Given the description of an element on the screen output the (x, y) to click on. 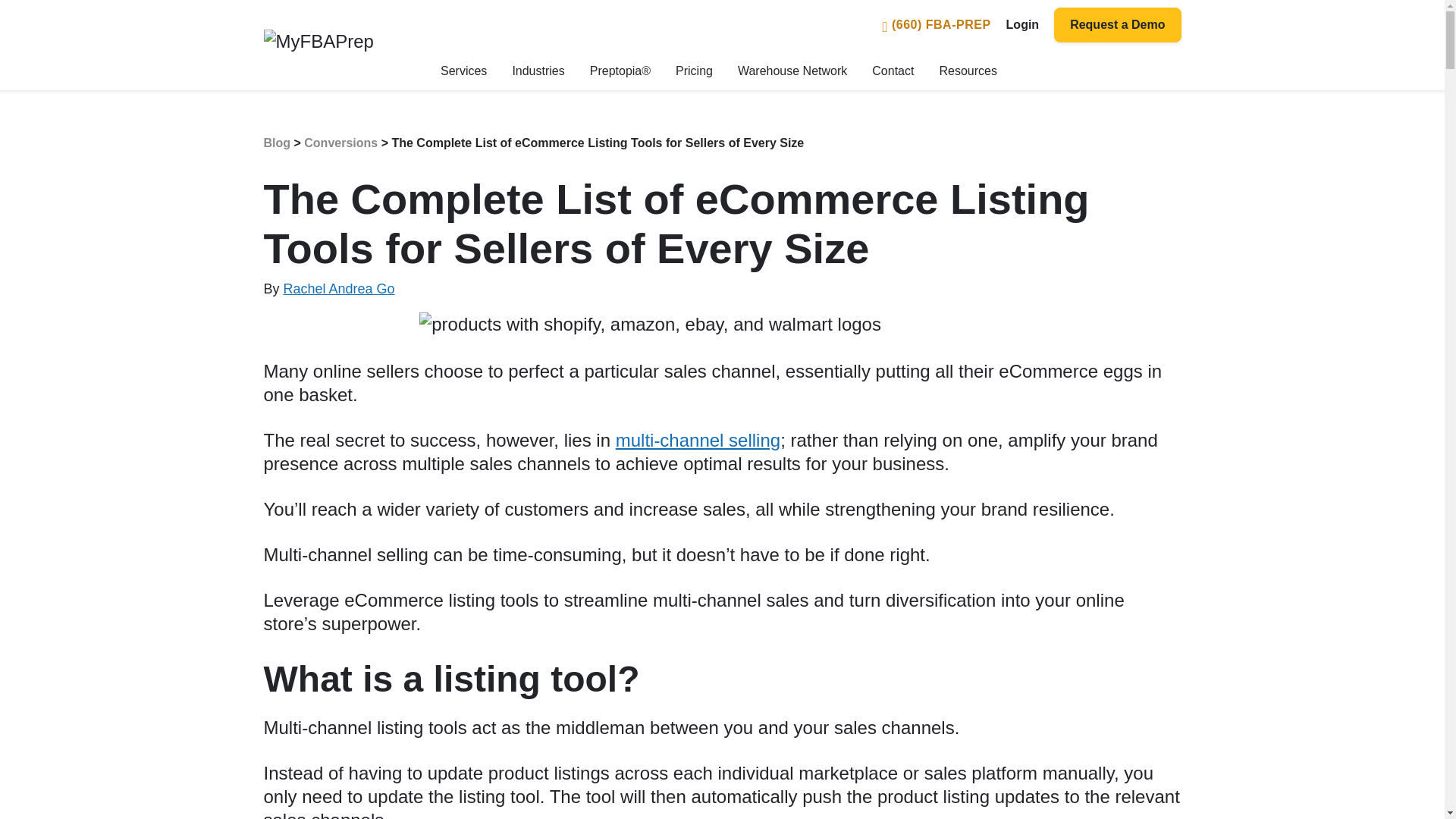
Contact (893, 71)
Services (463, 71)
Login (1022, 25)
Request a Demo (1117, 24)
Warehouse Network (792, 71)
Resources (967, 71)
Conversions (340, 142)
Pricing (694, 71)
Blog (277, 142)
Industries (538, 71)
Rachel Andrea Go (338, 288)
multi-channel selling (697, 439)
